Given the description of an element on the screen output the (x, y) to click on. 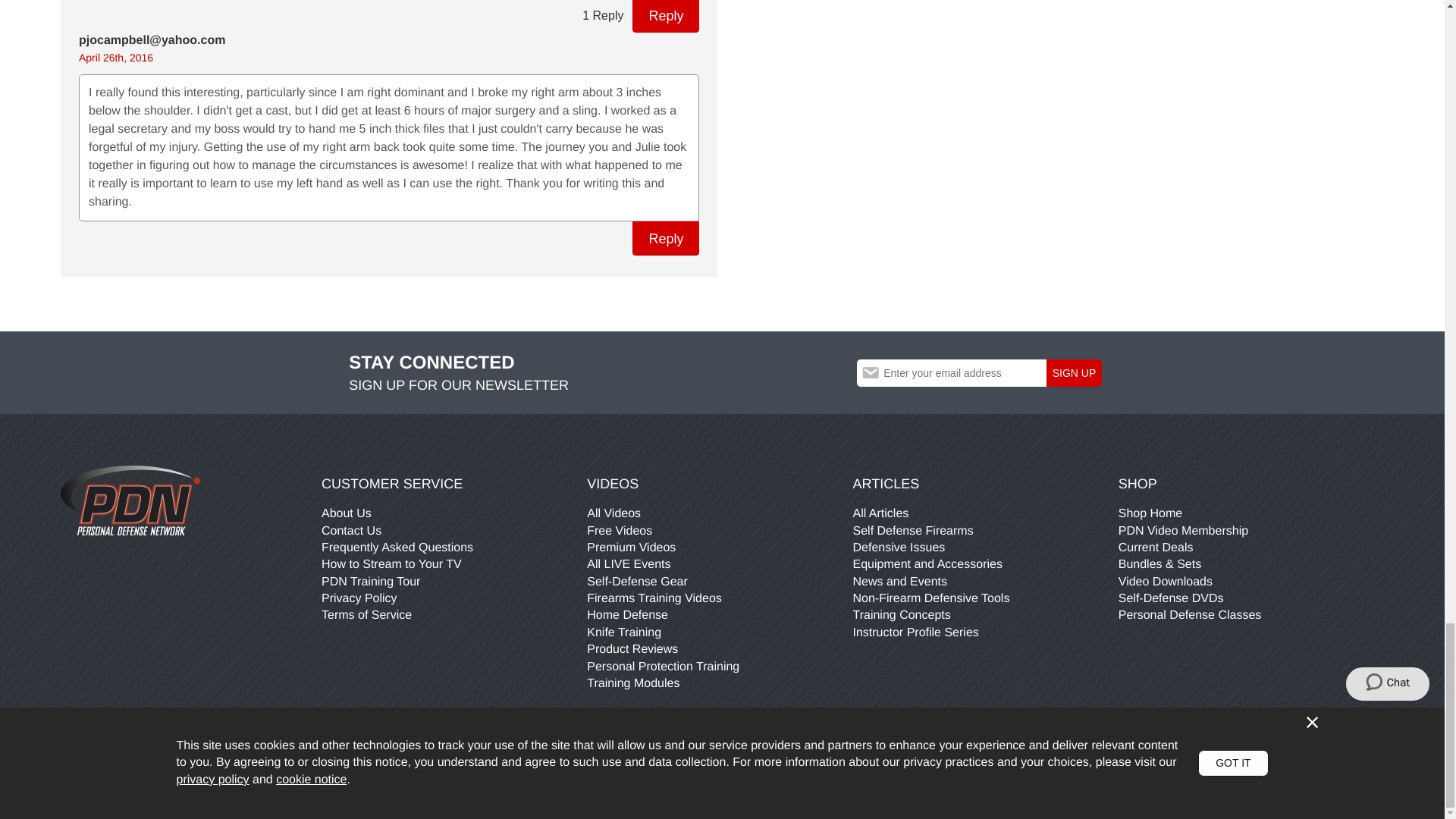
Reply (664, 16)
1 Reply (602, 16)
Sign Up (1074, 372)
Sign Up (1074, 372)
Reply (664, 238)
Home (130, 500)
